Given the description of an element on the screen output the (x, y) to click on. 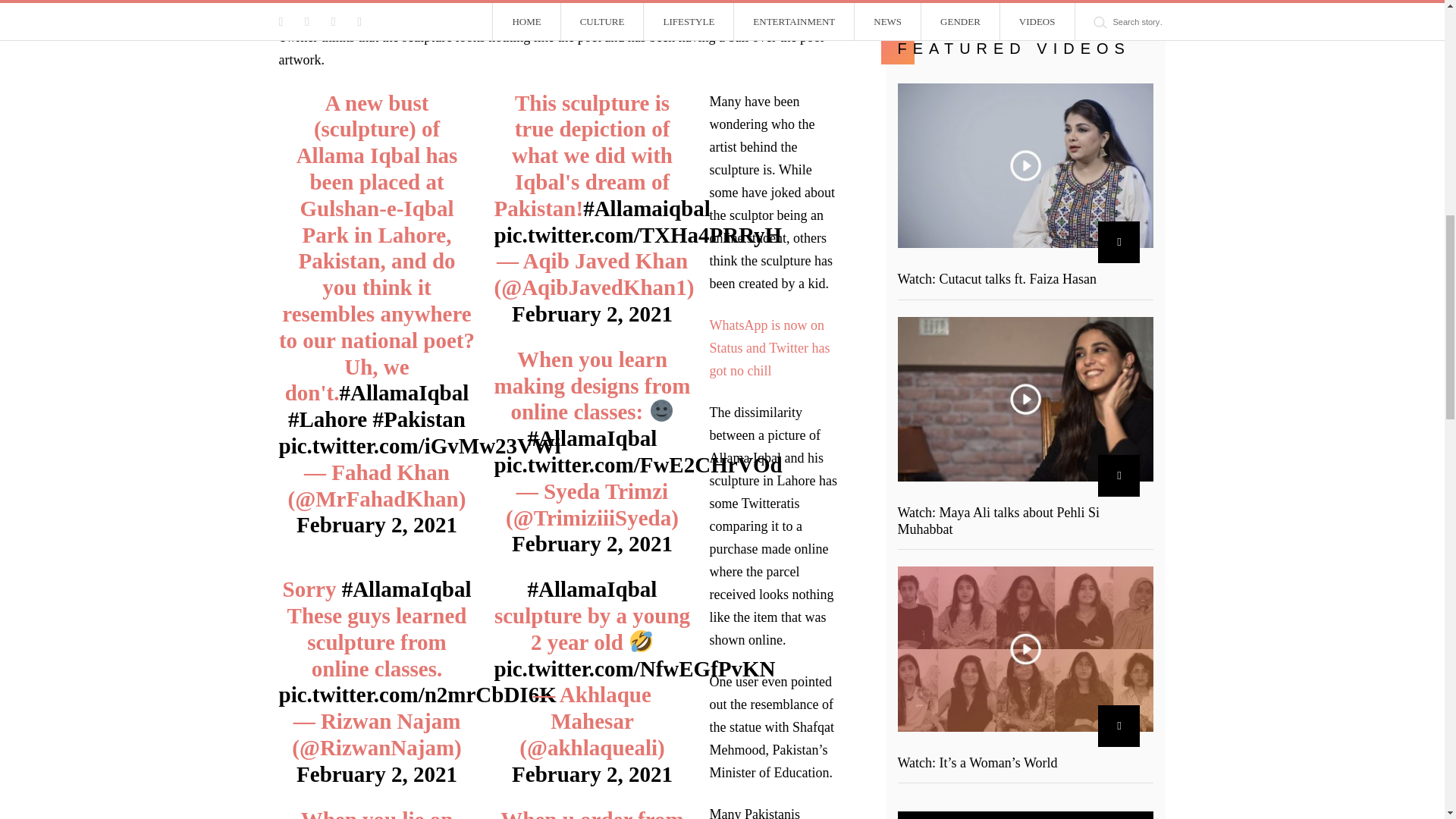
February 2, 2021 (592, 313)
February 2, 2021 (377, 524)
February 2, 2021 (592, 543)
February 2, 2021 (592, 774)
WhatsApp is now on Status and Twitter has got no chill (769, 347)
February 2, 2021 (377, 774)
